Given the description of an element on the screen output the (x, y) to click on. 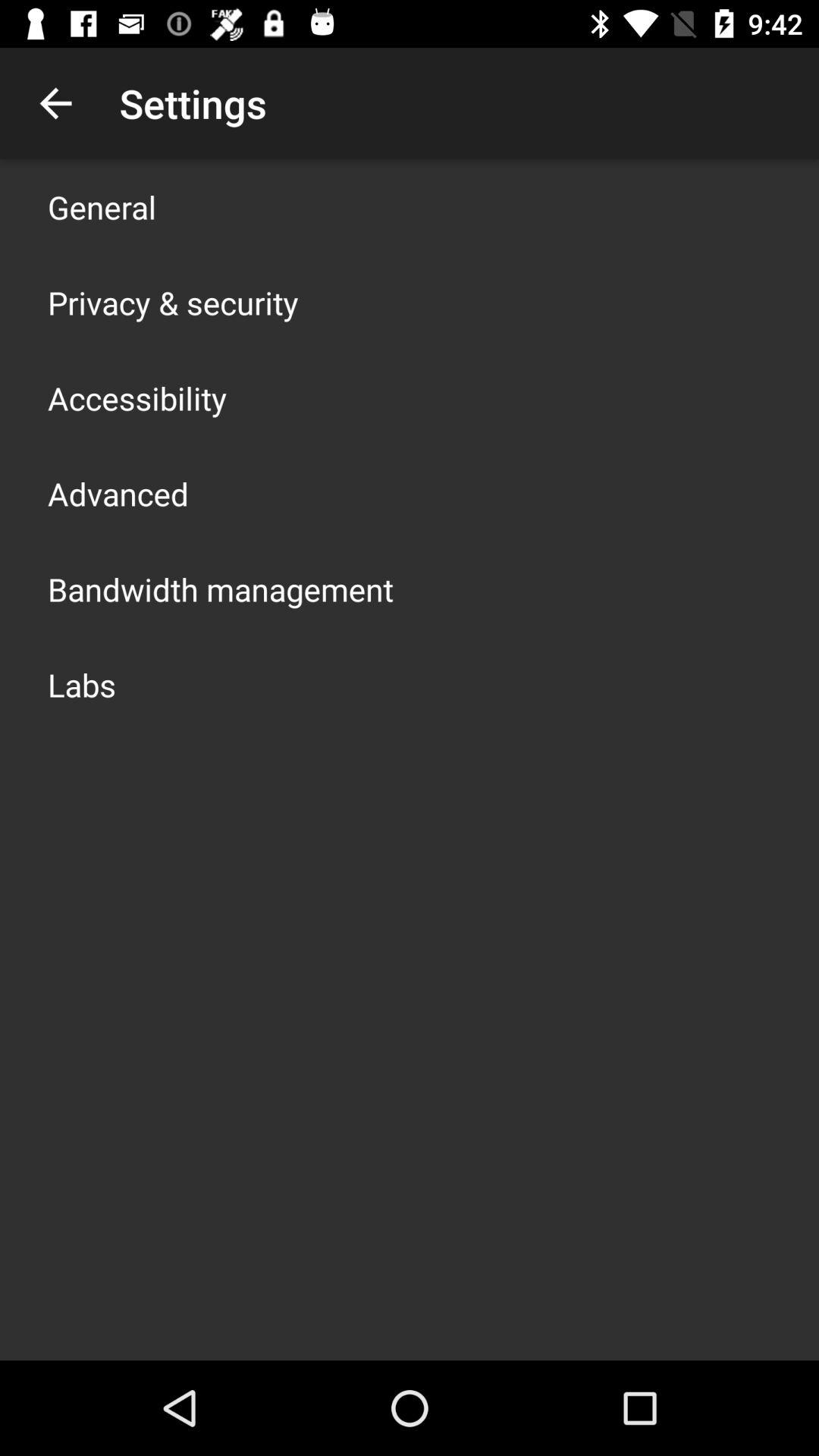
turn off the icon above accessibility (172, 302)
